Given the description of an element on the screen output the (x, y) to click on. 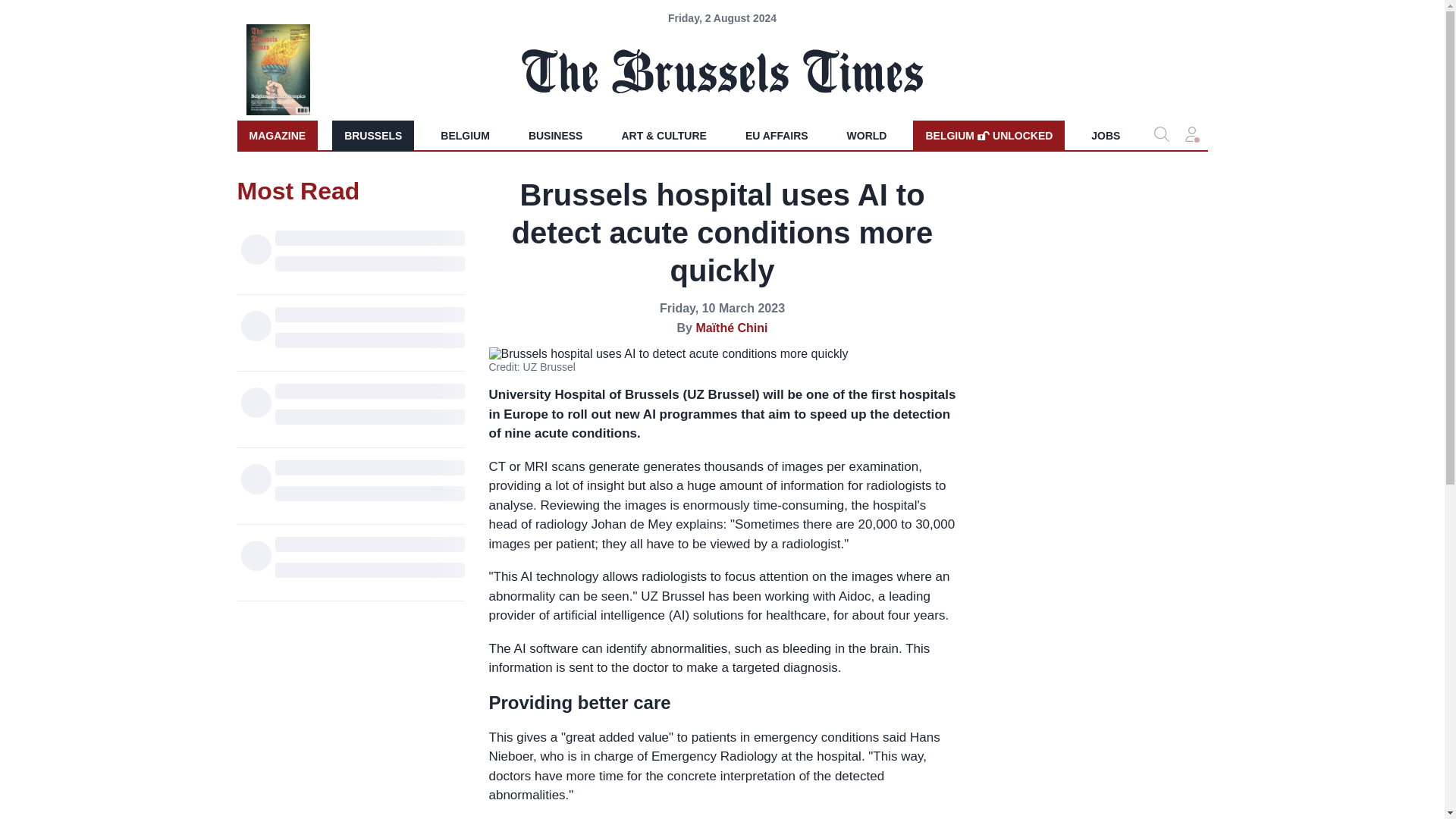
BUSINESS (988, 135)
WORLD (555, 135)
JOBS (866, 135)
MAGAZINE (1105, 135)
BELGIUM (276, 135)
BRUSSELS (465, 135)
EU AFFAIRS (372, 135)
